Given the description of an element on the screen output the (x, y) to click on. 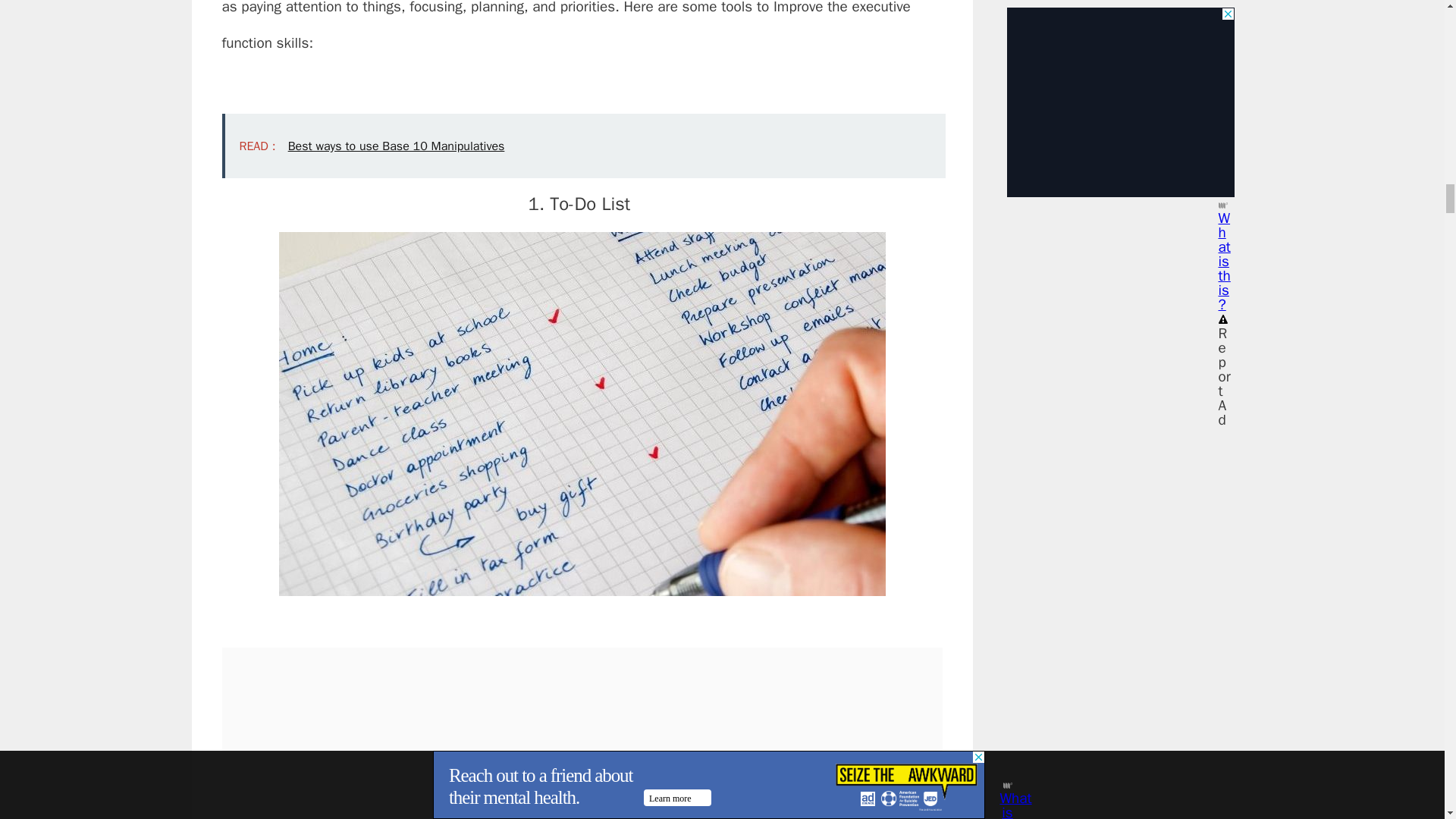
READ :   Best ways to use Base 10 Manipulatives (582, 146)
